Given the description of an element on the screen output the (x, y) to click on. 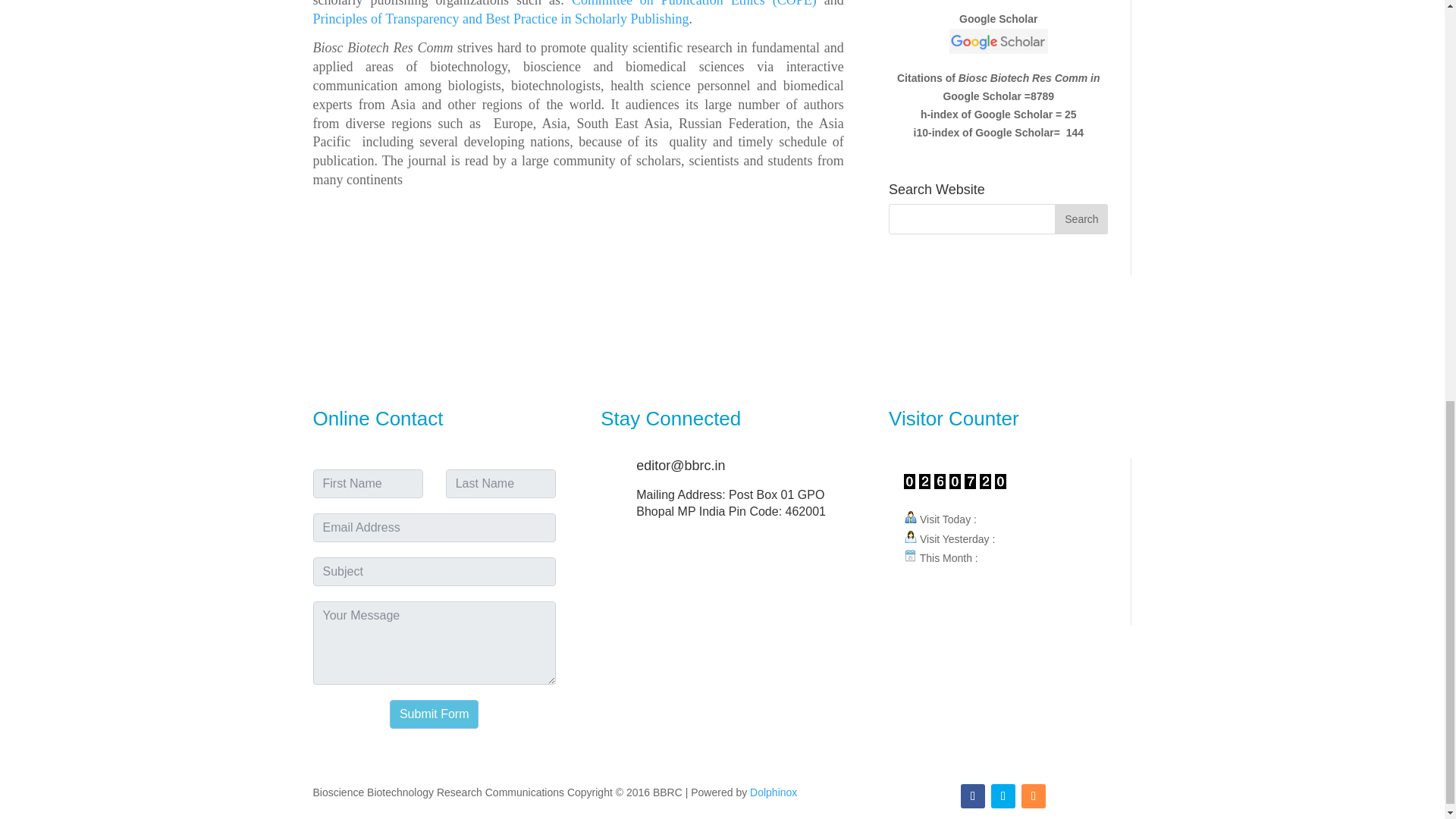
Dolphinox (772, 792)
Follow on Twitter (1002, 795)
Follow on RSS (1033, 795)
Follow on Facebook (972, 795)
Search (1081, 218)
